Given the description of an element on the screen output the (x, y) to click on. 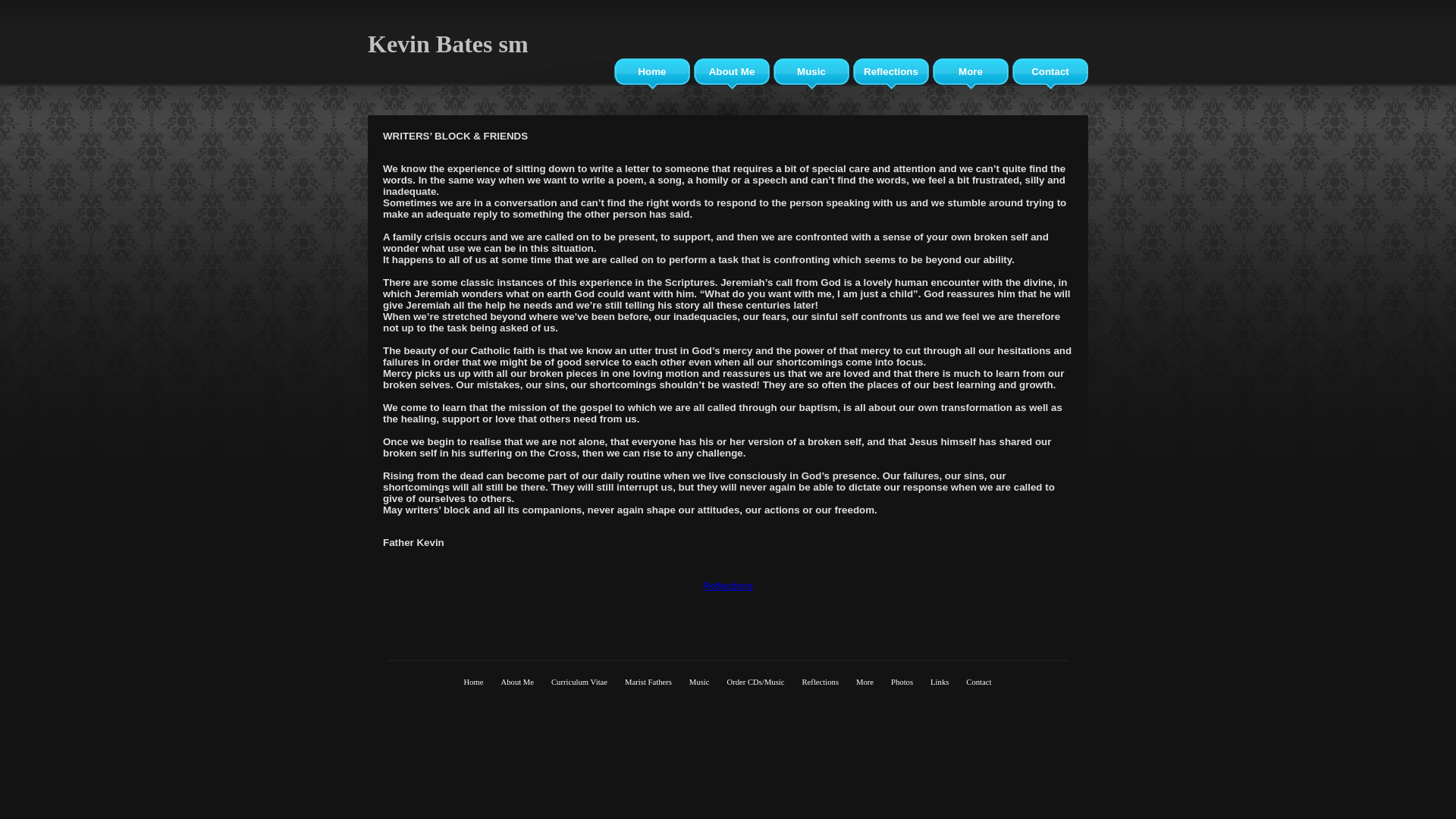
Music Element type: text (811, 73)
About Me Element type: text (731, 73)
Curriculum Vitae Element type: text (579, 681)
About Me Element type: text (517, 681)
Photos Element type: text (902, 681)
More Element type: text (864, 681)
Home Element type: text (473, 681)
Reflections Element type: text (890, 73)
Links Element type: text (939, 681)
Reflections Element type: text (820, 681)
More Element type: text (970, 73)
Divider Element type: hover (727, 660)
Music Element type: text (699, 681)
Reflections Element type: text (727, 585)
Contact Element type: text (978, 681)
Order CDs/Music Element type: text (755, 681)
Marist Fathers Element type: text (647, 681)
Contact Element type: text (1050, 73)
Home Element type: text (652, 73)
